Given the description of an element on the screen output the (x, y) to click on. 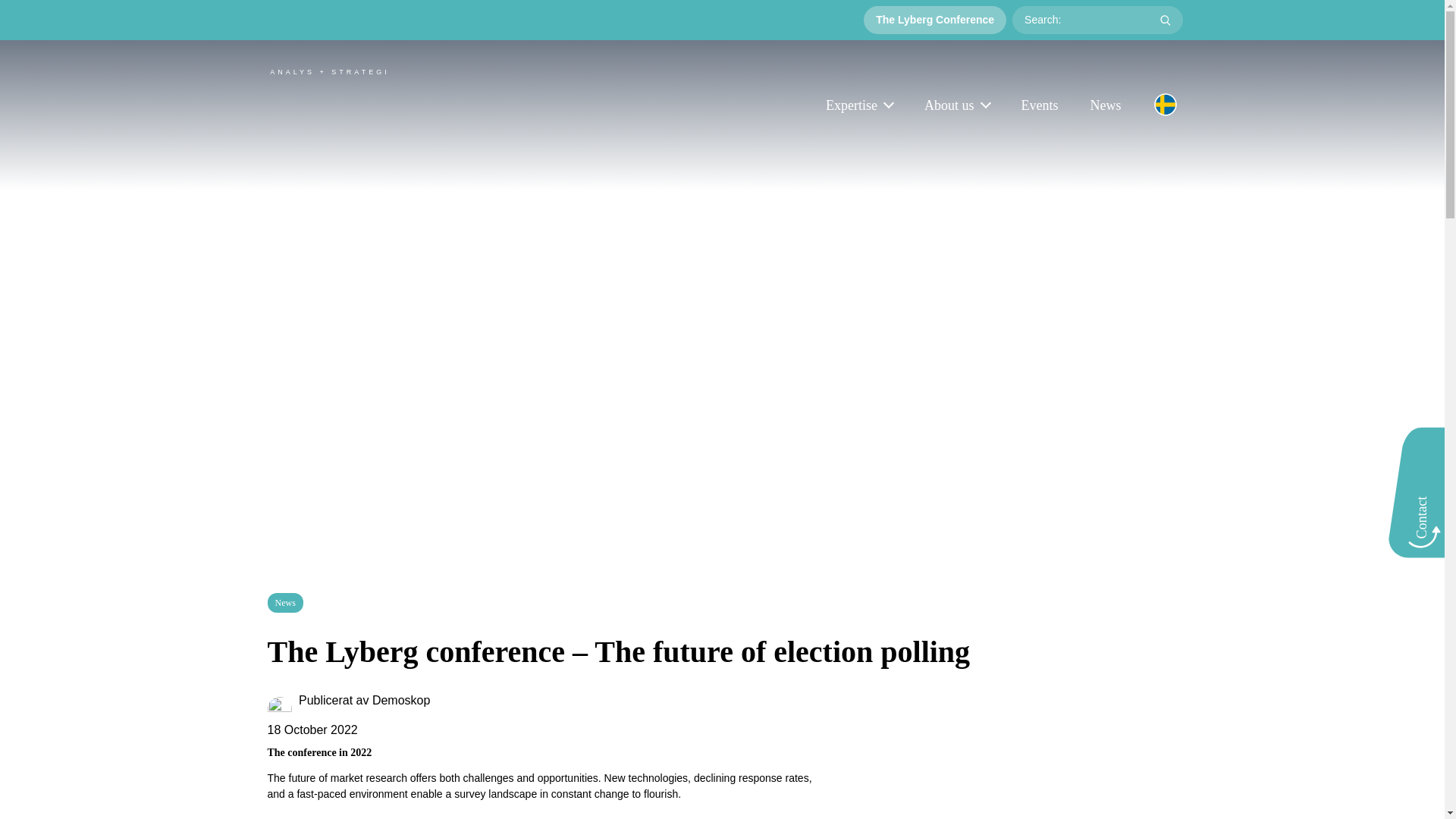
Expertise (858, 105)
News (284, 602)
Events (1039, 105)
The Lyberg Conference (934, 19)
About us (957, 105)
News (1105, 105)
